Given the description of an element on the screen output the (x, y) to click on. 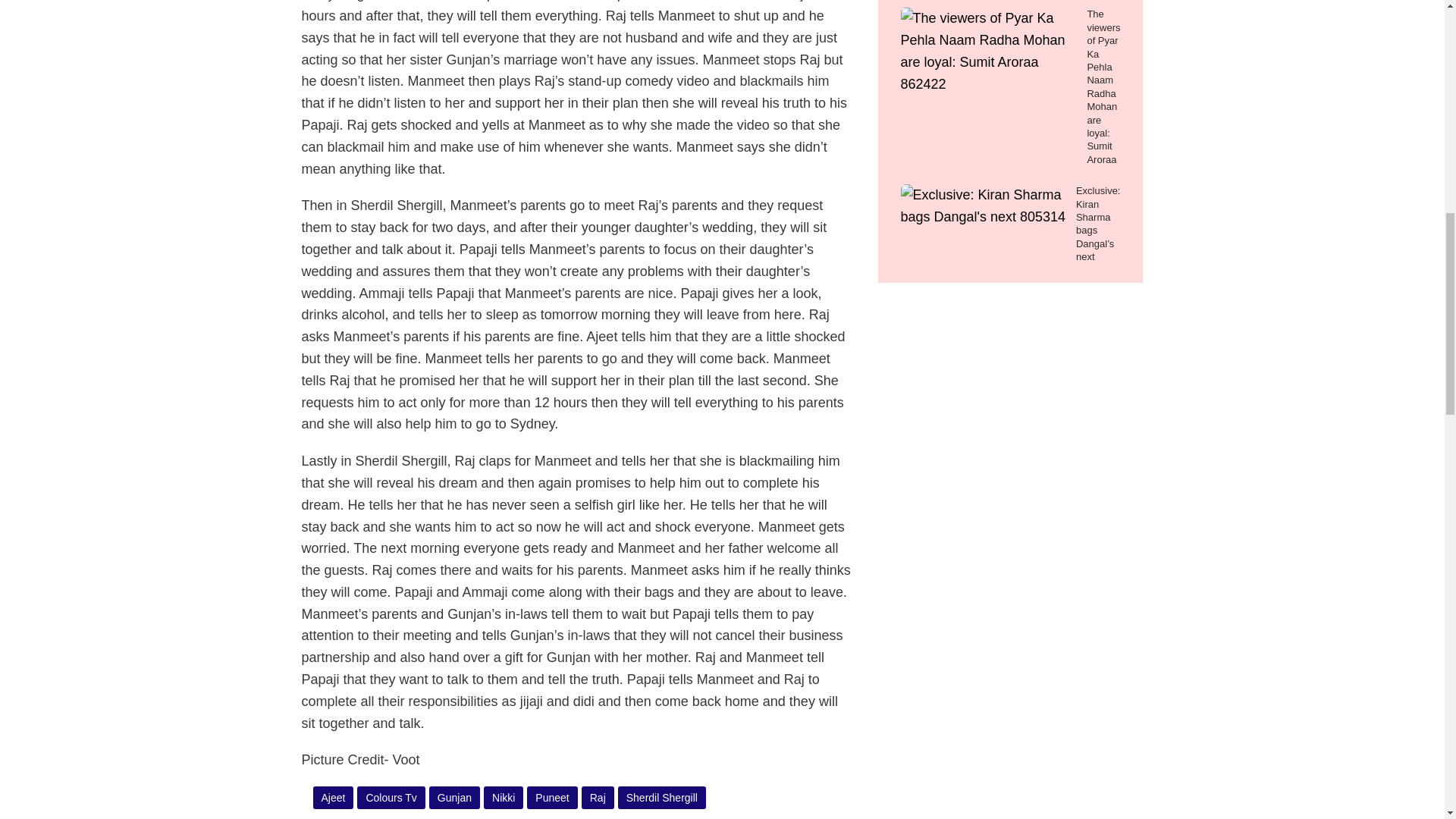
Raj (597, 797)
Sherdil Shergill (661, 797)
Puneet (552, 797)
Colours Tv (390, 797)
Nikki (503, 797)
Gunjan (454, 797)
Ajeet (333, 797)
